Given the description of an element on the screen output the (x, y) to click on. 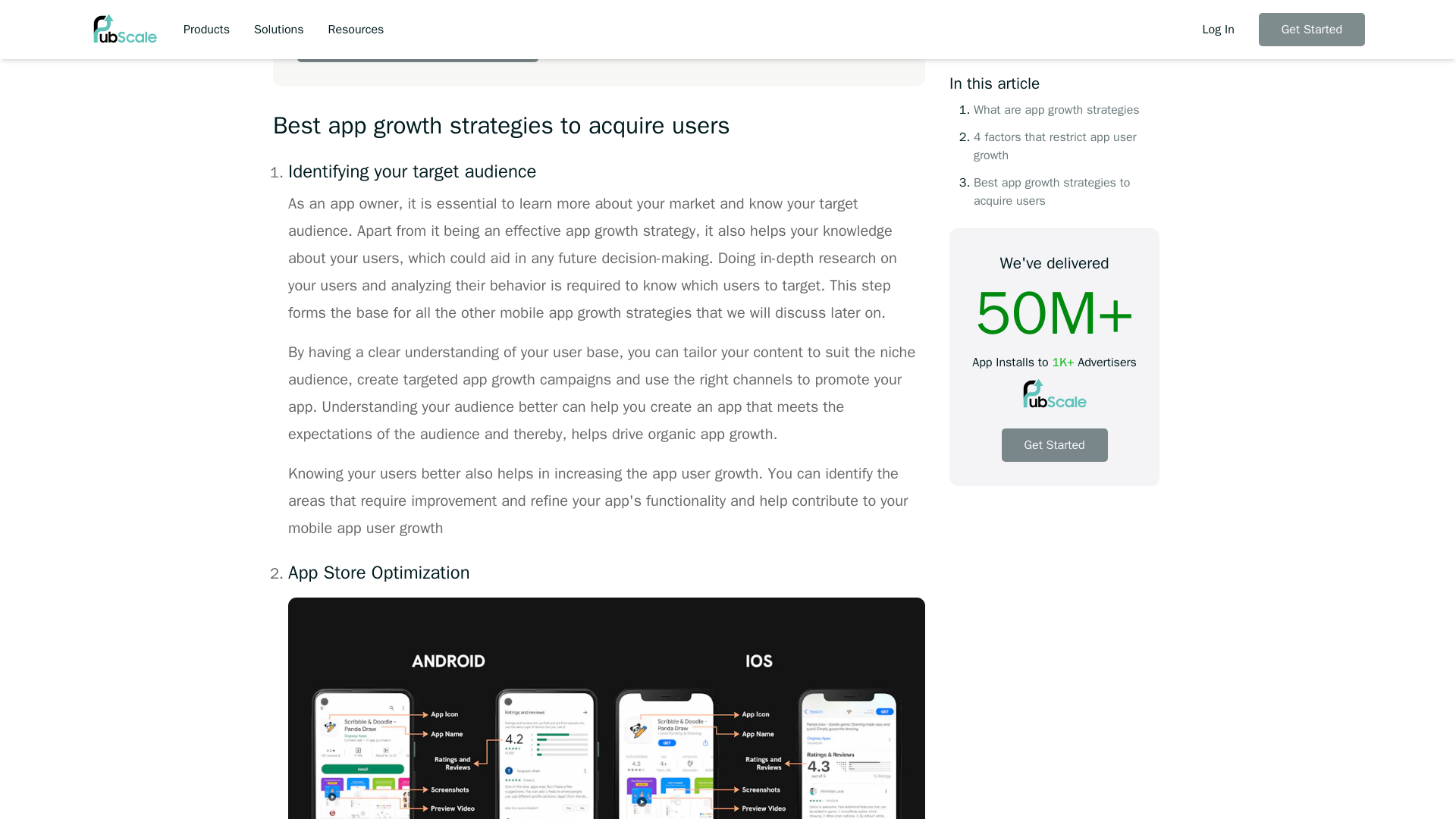
Blog CTA Image (786, 31)
Unlock Growth Potential (417, 35)
